Given the description of an element on the screen output the (x, y) to click on. 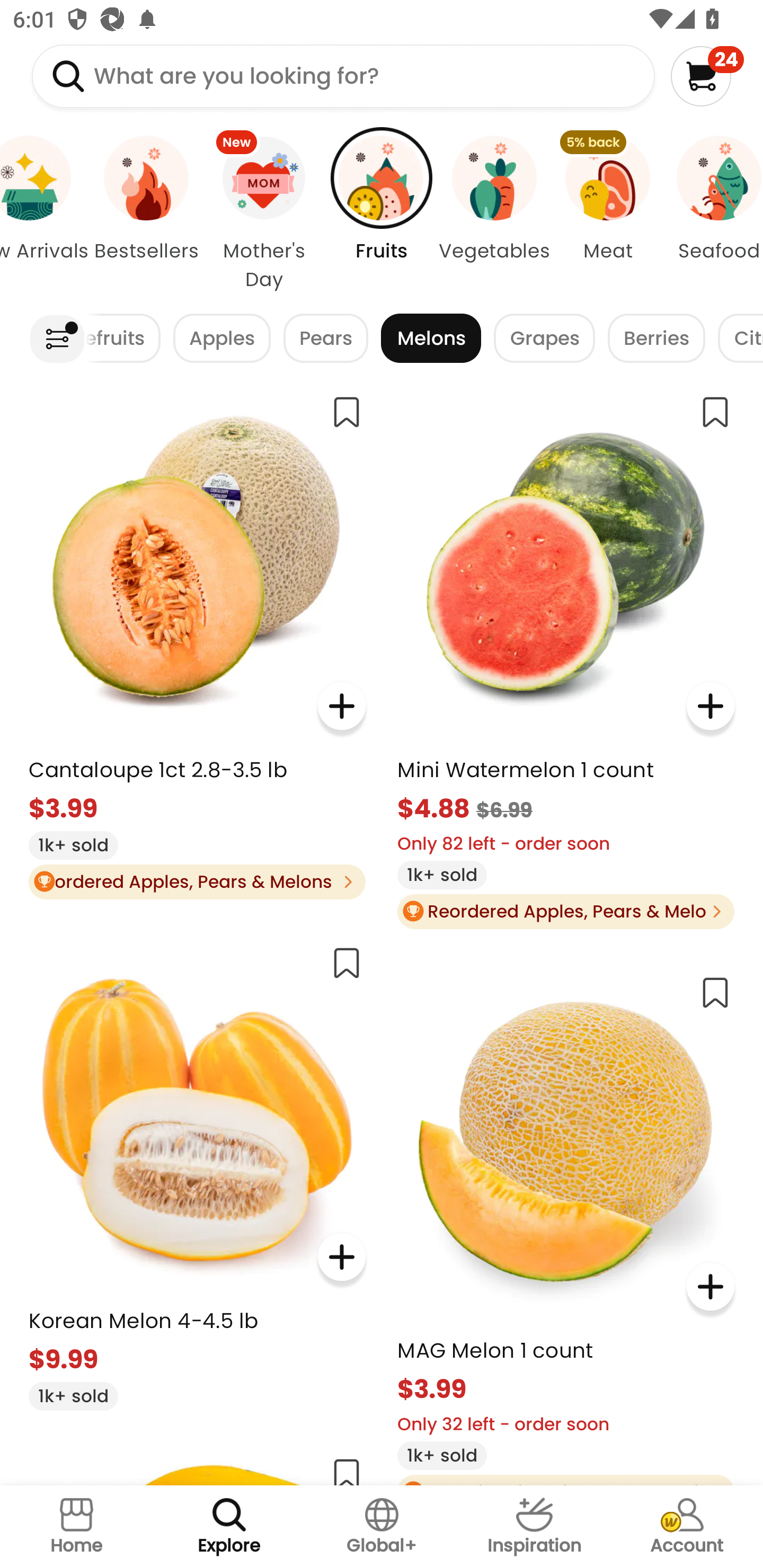
What are you looking for? (343, 75)
24 (706, 75)
New Arrivals (45, 214)
Bestsellers (146, 214)
New Mother's Day (263, 214)
Fruits (381, 214)
Vegetables (494, 214)
5% back Meat (607, 214)
Seafood (713, 214)
Stonefruits (122, 337)
Apples (221, 337)
Pears (325, 337)
Melons (430, 337)
Grapes (544, 337)
Berries (656, 337)
Korean Melon 4-4.5 lb $9.99 1k+ sold (197, 1171)
Home (76, 1526)
Explore (228, 1526)
Global+ (381, 1526)
Inspiration (533, 1526)
Account (686, 1526)
